Given the description of an element on the screen output the (x, y) to click on. 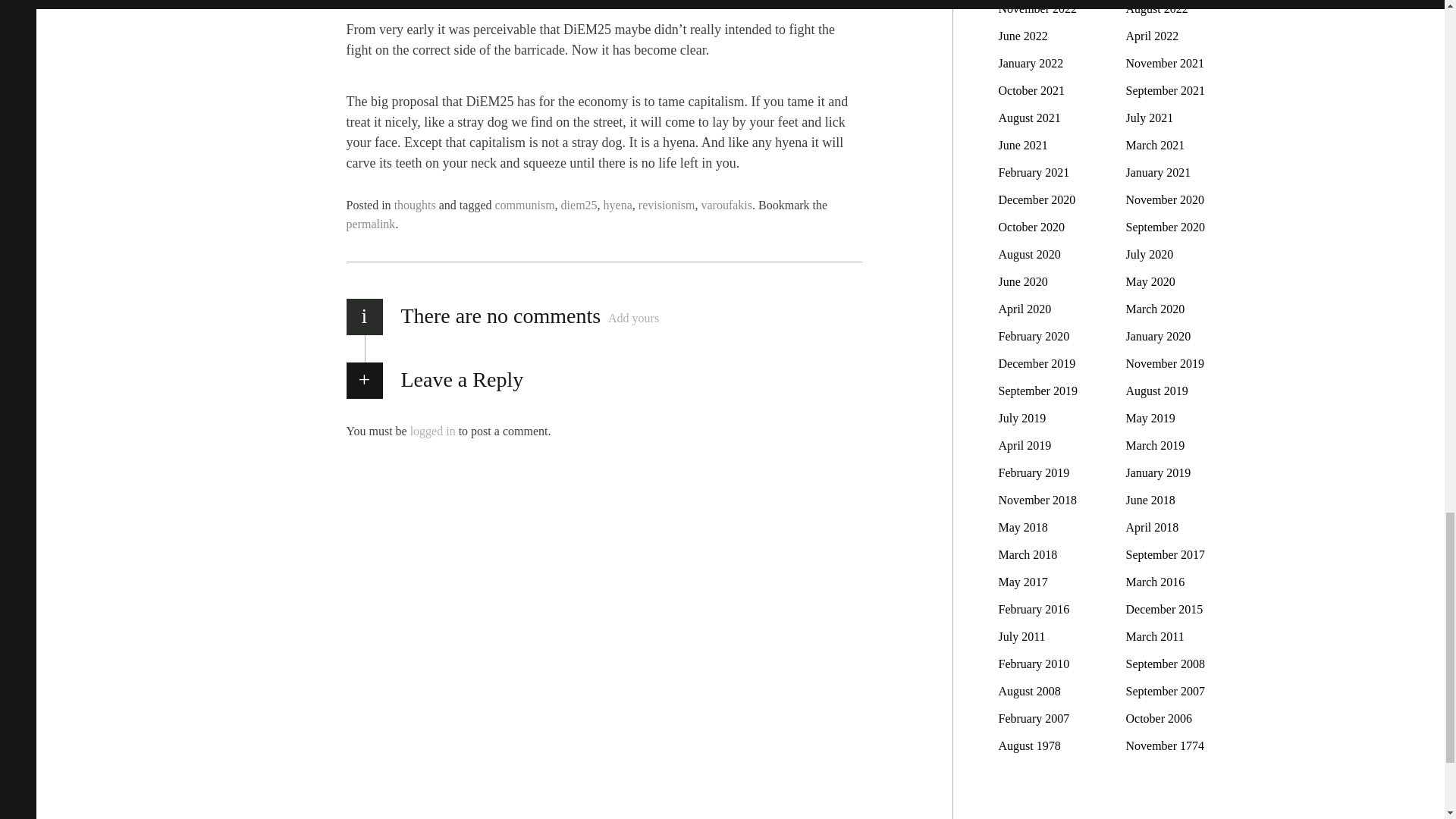
Add yours (633, 318)
thoughts (414, 205)
hyena (617, 205)
diem25 (578, 205)
logged in (432, 430)
communism (524, 205)
revisionism (667, 205)
permalink (370, 223)
varoufakis (726, 205)
